Given the description of an element on the screen output the (x, y) to click on. 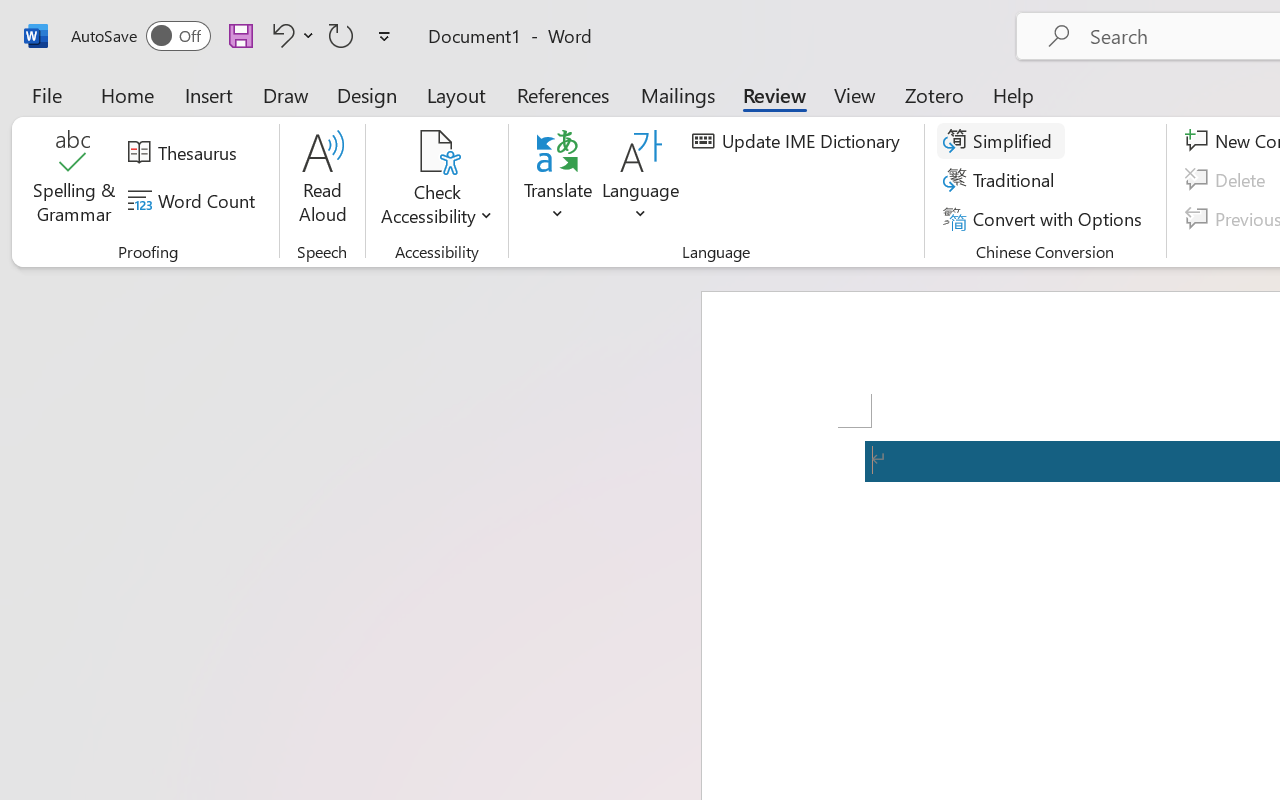
Spelling & Grammar (74, 180)
Check Accessibility (436, 151)
